Given the description of an element on the screen output the (x, y) to click on. 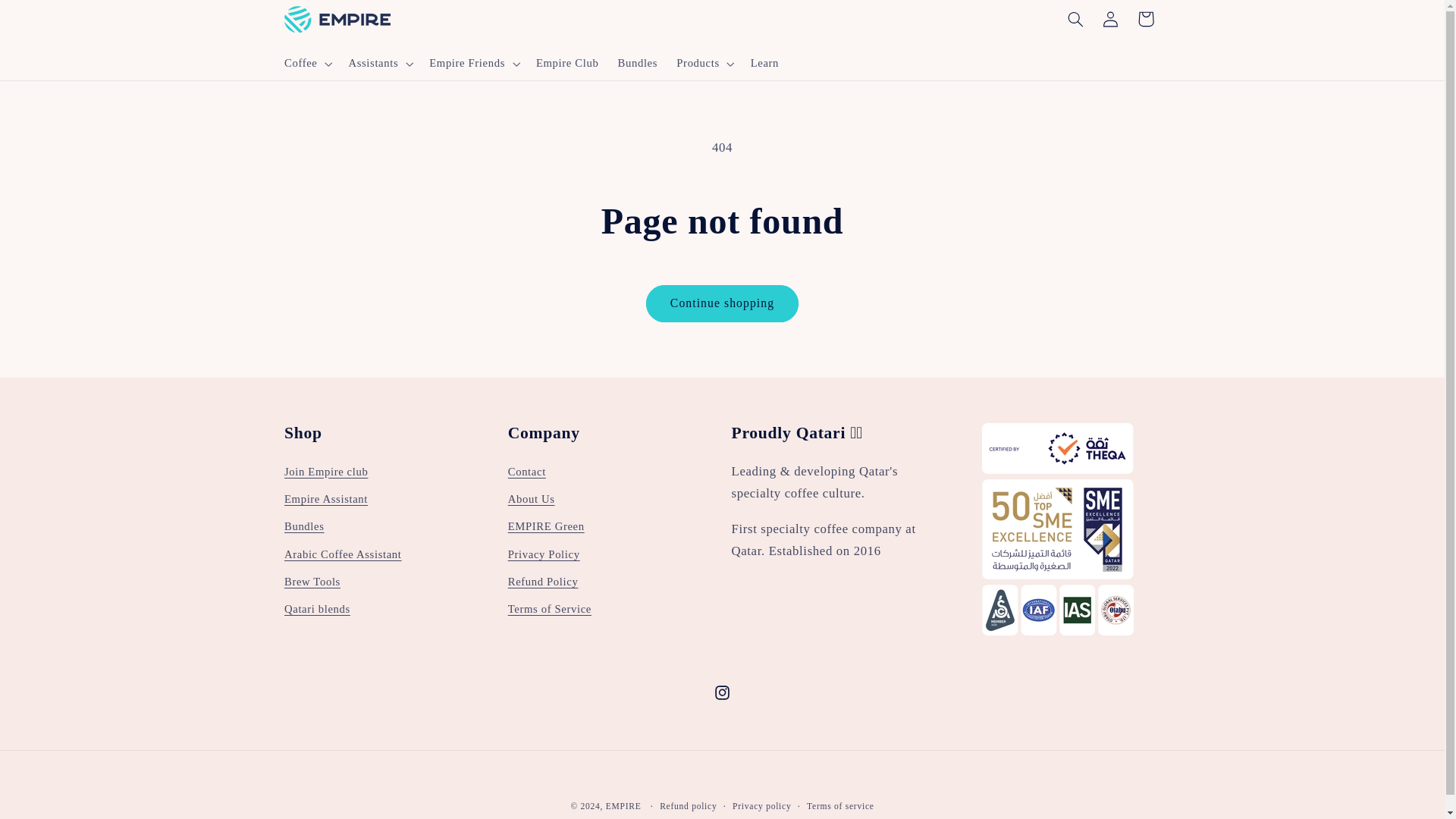
Log in (1110, 18)
Bundles (637, 63)
Learn (765, 63)
Cart (1145, 18)
Skip to content (48, 18)
Empire Club (566, 63)
